Given the description of an element on the screen output the (x, y) to click on. 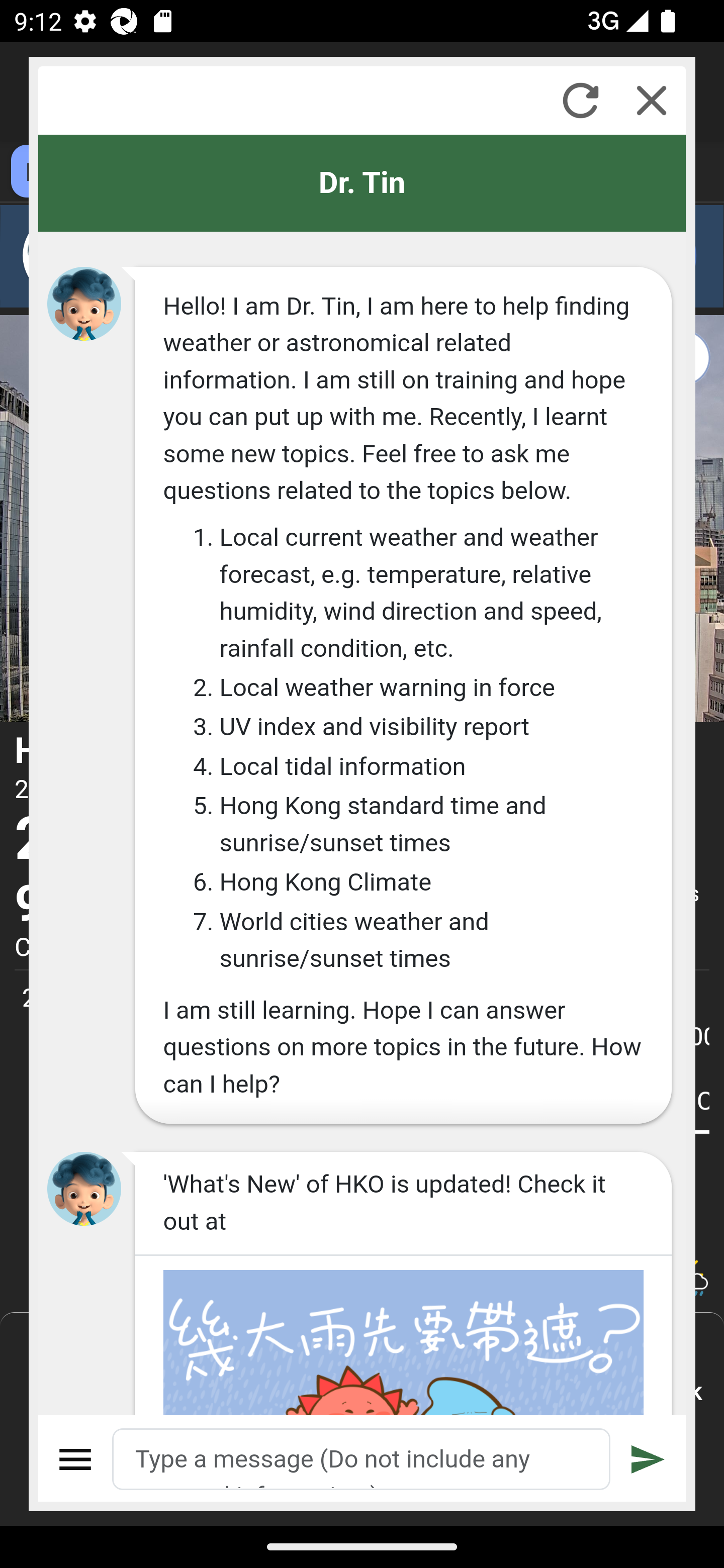
Refresh (580, 100)
Close (651, 100)
Menu (75, 1458)
Submit (648, 1458)
